Given the description of an element on the screen output the (x, y) to click on. 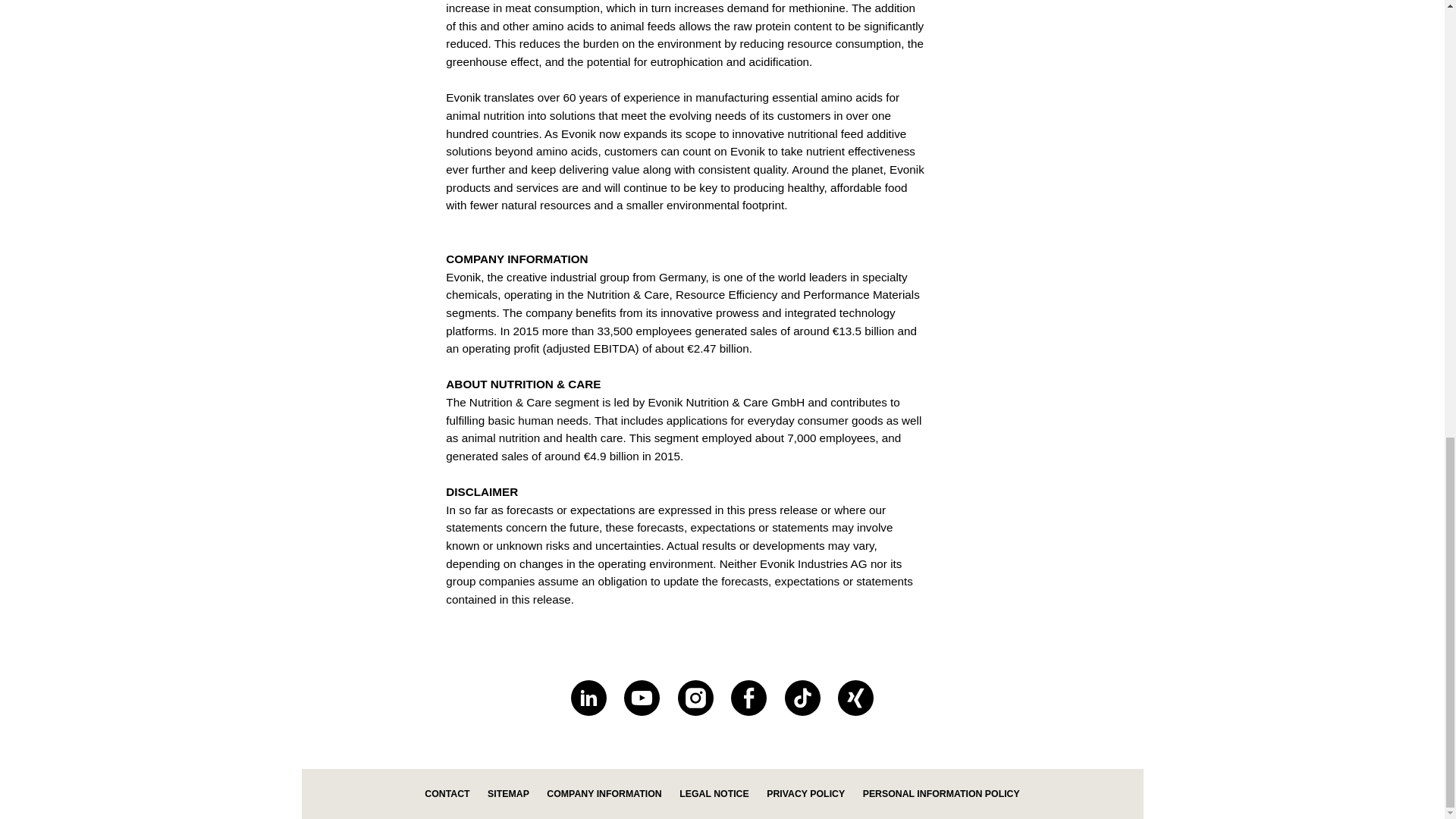
SITEMAP (508, 793)
LinkedIn (588, 697)
PRIVACY POLICY (805, 793)
PERSONAL INFORMATION POLICY (941, 793)
COMPANY INFORMATION (604, 793)
Instagram (695, 697)
CONTACT (446, 793)
YouTube (641, 697)
LEGAL NOTICE (714, 793)
